Given the description of an element on the screen output the (x, y) to click on. 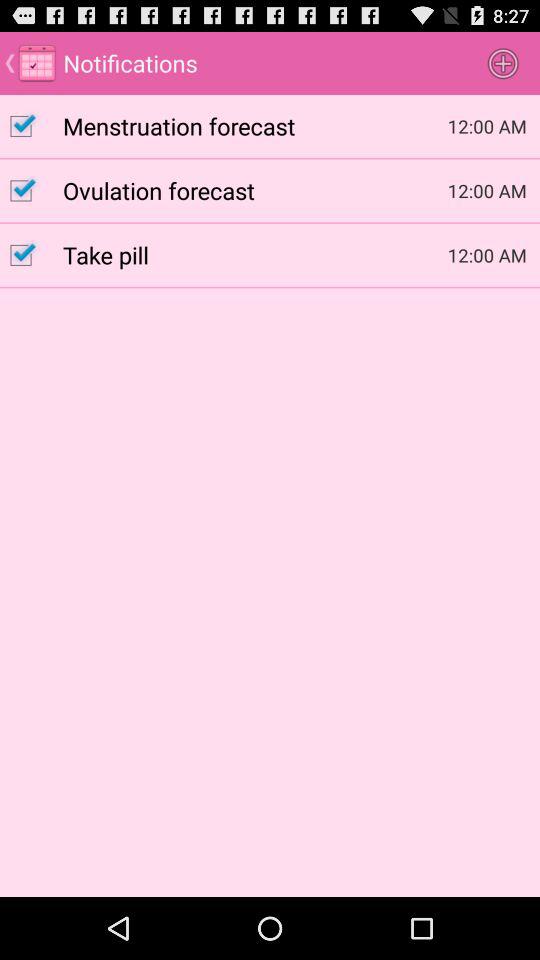
selection box (31, 190)
